Given the description of an element on the screen output the (x, y) to click on. 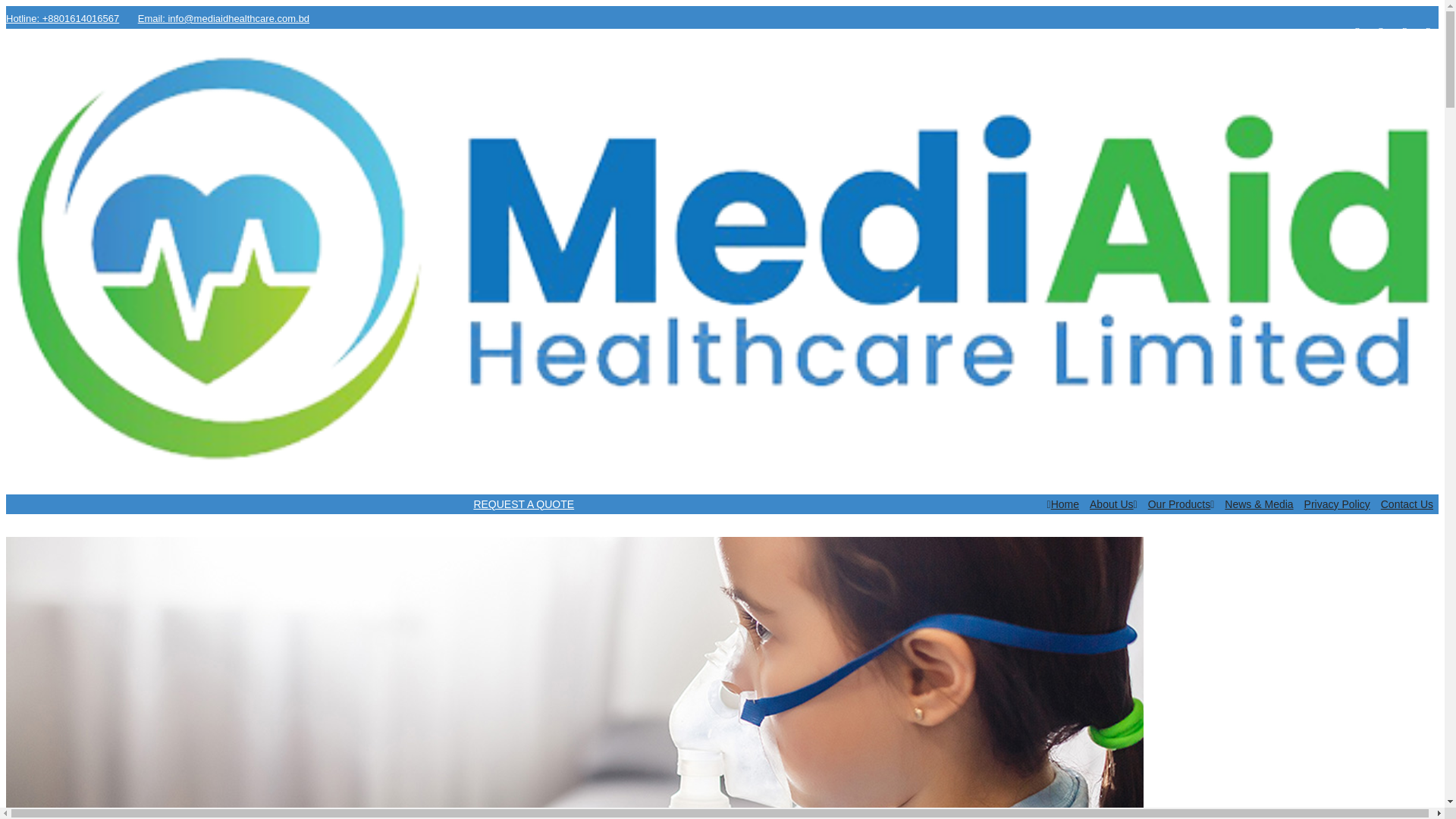
Privacy Policy (1336, 503)
Home (1063, 503)
REQUEST A QUOTE (721, 504)
Our Products (1181, 503)
Contact Us (1406, 503)
About Us (1113, 503)
